Given the description of an element on the screen output the (x, y) to click on. 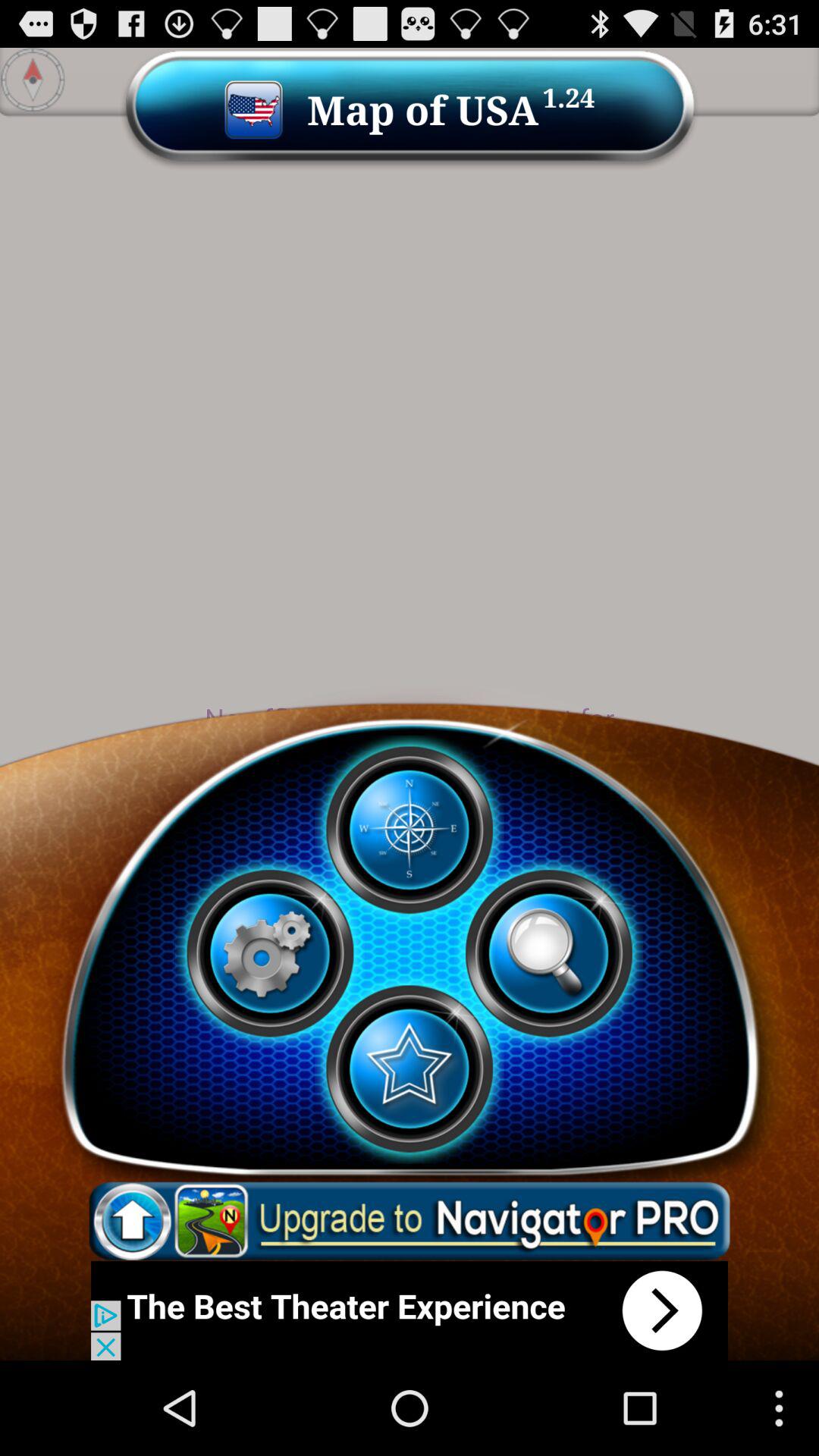
advertisement (409, 1310)
